Given the description of an element on the screen output the (x, y) to click on. 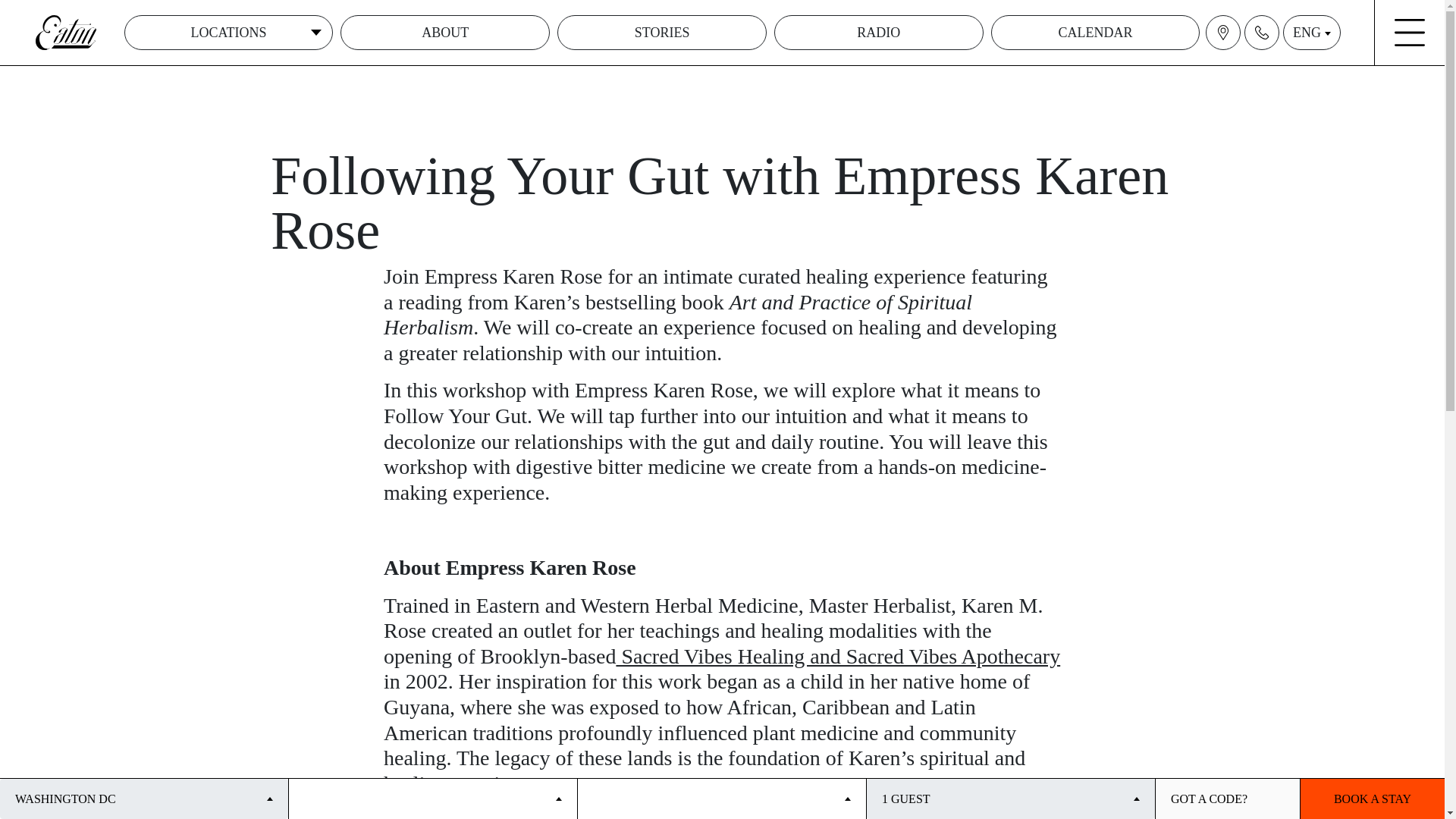
ENG (1311, 32)
Sacred Vibes Healing and Sacred Vibes Apothecary (837, 656)
LOCATIONS (228, 32)
RADIO (879, 32)
STORIES (662, 32)
ABOUT (445, 32)
CALENDAR (1095, 32)
